Given the description of an element on the screen output the (x, y) to click on. 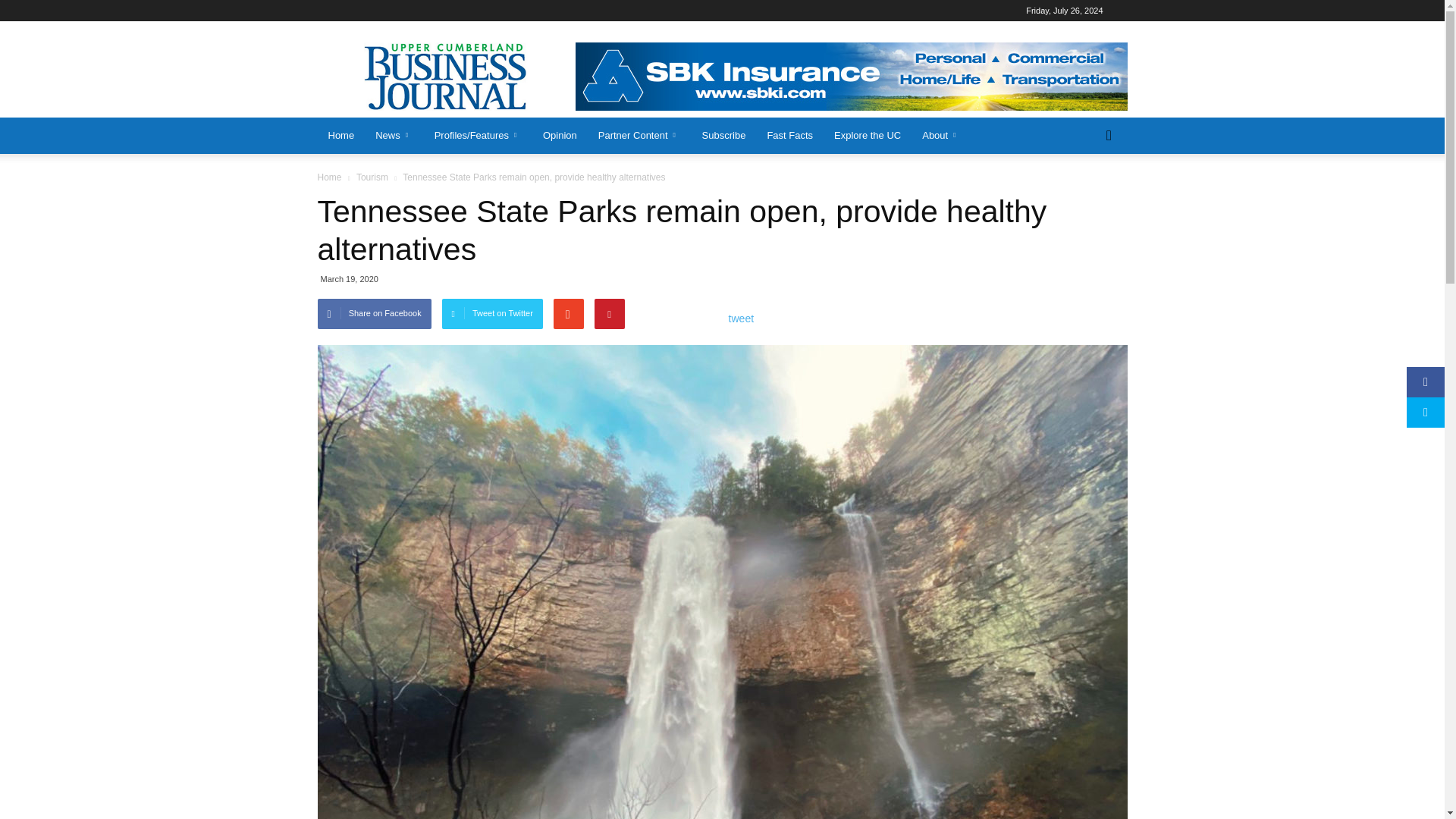
Home (341, 135)
News (394, 135)
Opinion (560, 135)
Your voice for business in the Upper Cumberland (446, 76)
View all posts in Tourism (372, 176)
